Given the description of an element on the screen output the (x, y) to click on. 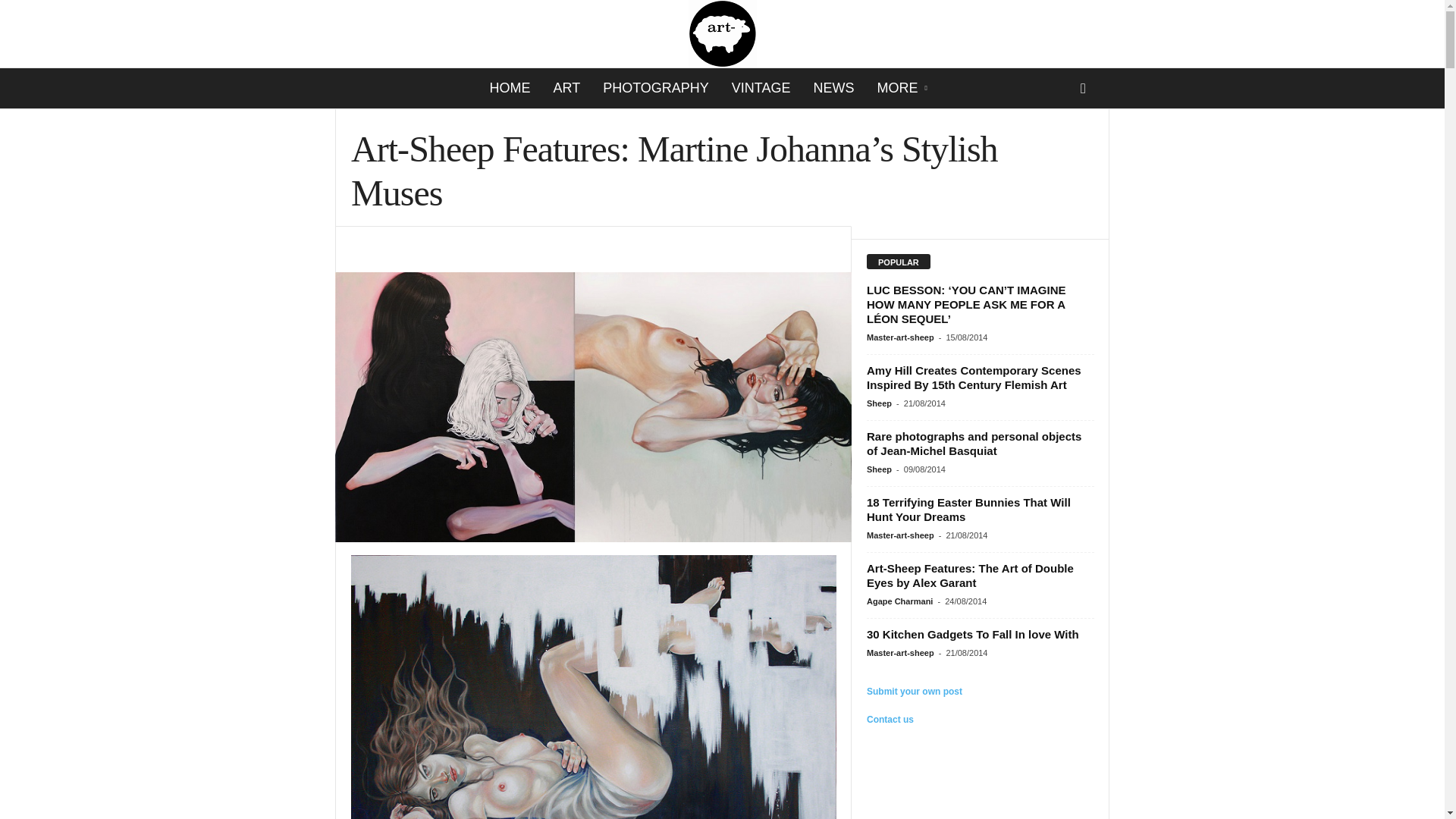
HOME (509, 87)
MORE (904, 87)
PHOTOGRAPHY (655, 87)
VINTAGE (761, 87)
ART (566, 87)
NEWS (834, 87)
